Given the description of an element on the screen output the (x, y) to click on. 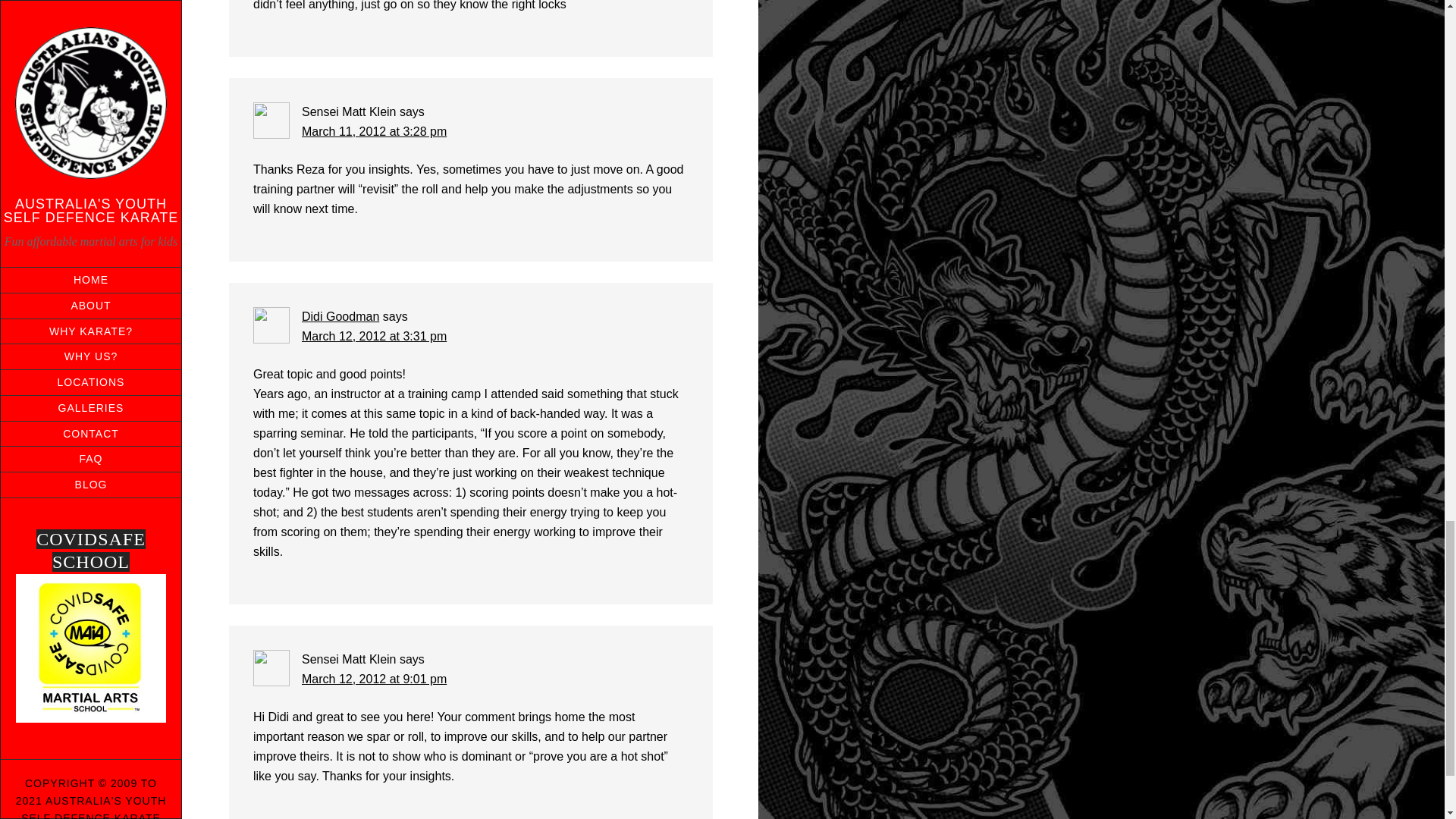
March 11, 2012 at 3:28 pm (373, 131)
March 12, 2012 at 9:01 pm (373, 678)
March 12, 2012 at 3:31 pm (373, 336)
Didi Goodman (339, 316)
